Given the description of an element on the screen output the (x, y) to click on. 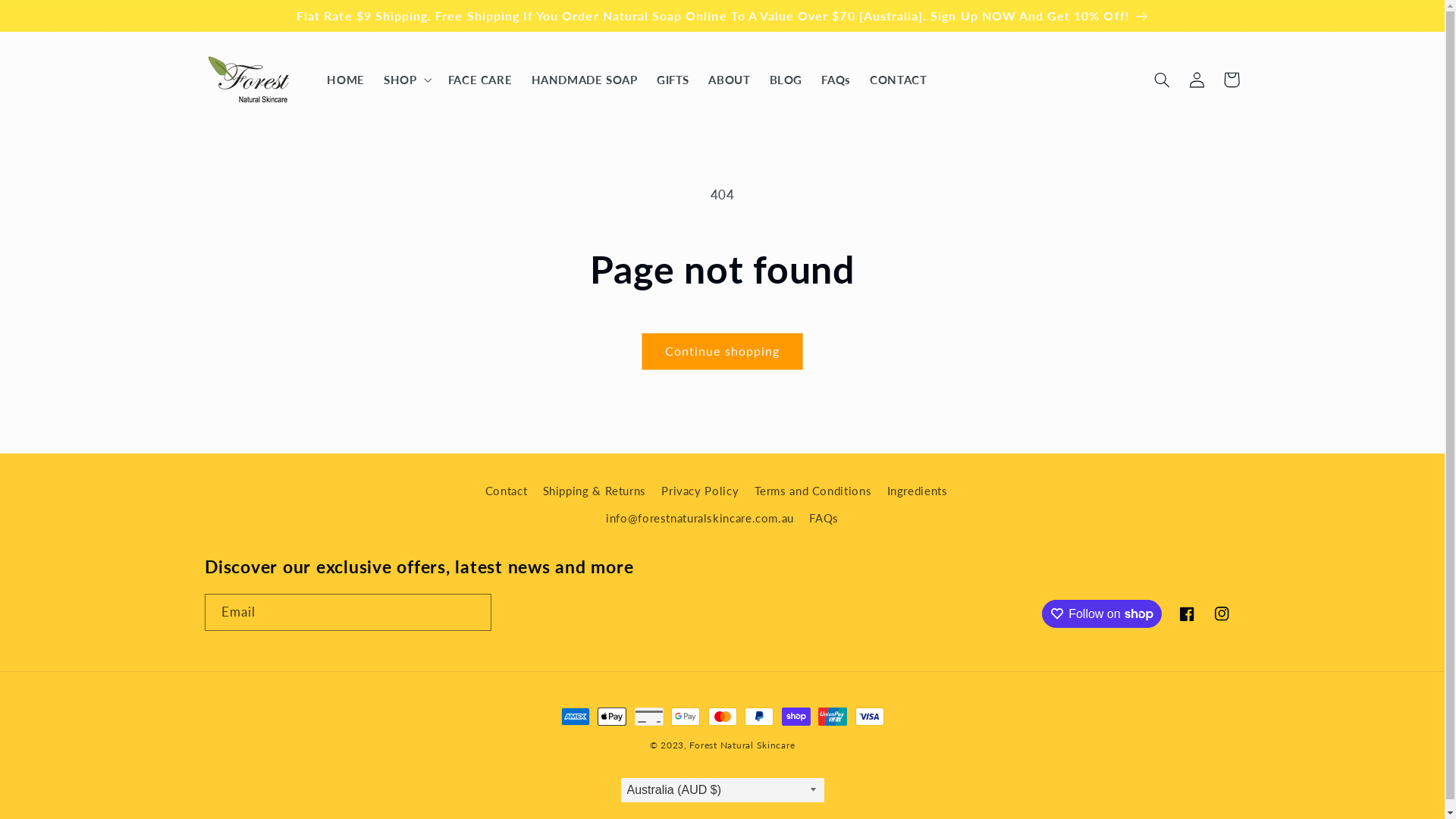
HANDMADE SOAP Element type: text (583, 79)
Cart Element type: text (1231, 79)
FACE CARE Element type: text (479, 79)
info@forestnaturalskincare.com.au Element type: text (699, 518)
FAQs Element type: text (836, 79)
ABOUT Element type: text (729, 79)
Terms and Conditions Element type: text (813, 491)
Ingredients Element type: text (917, 491)
Privacy Policy Element type: text (699, 491)
Instagram Element type: text (1221, 613)
GIFTS Element type: text (672, 79)
Forest Natural Skincare Element type: text (741, 744)
BLOG Element type: text (785, 79)
CONTACT Element type: text (897, 79)
Contact Element type: text (506, 493)
Log in Element type: text (1196, 79)
Facebook Element type: text (1187, 613)
Continue shopping Element type: text (722, 351)
FAQs Element type: text (823, 518)
Shipping & Returns Element type: text (594, 491)
HOME Element type: text (345, 79)
